Given the description of an element on the screen output the (x, y) to click on. 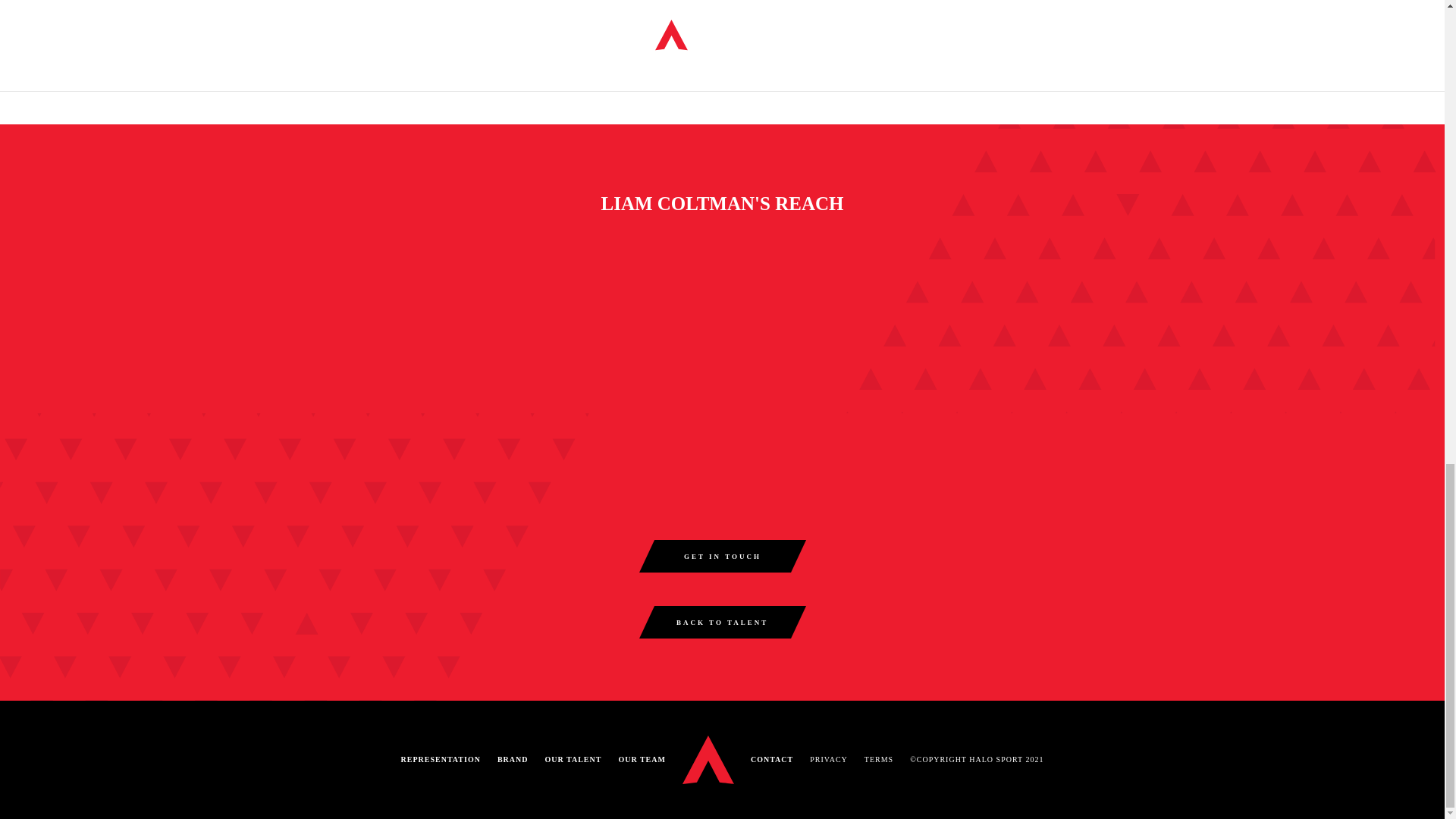
REPRESENTATION (440, 759)
OUR TALENT (572, 759)
BACK TO TALENT (721, 622)
GET IN TOUCH (722, 555)
